Given the description of an element on the screen output the (x, y) to click on. 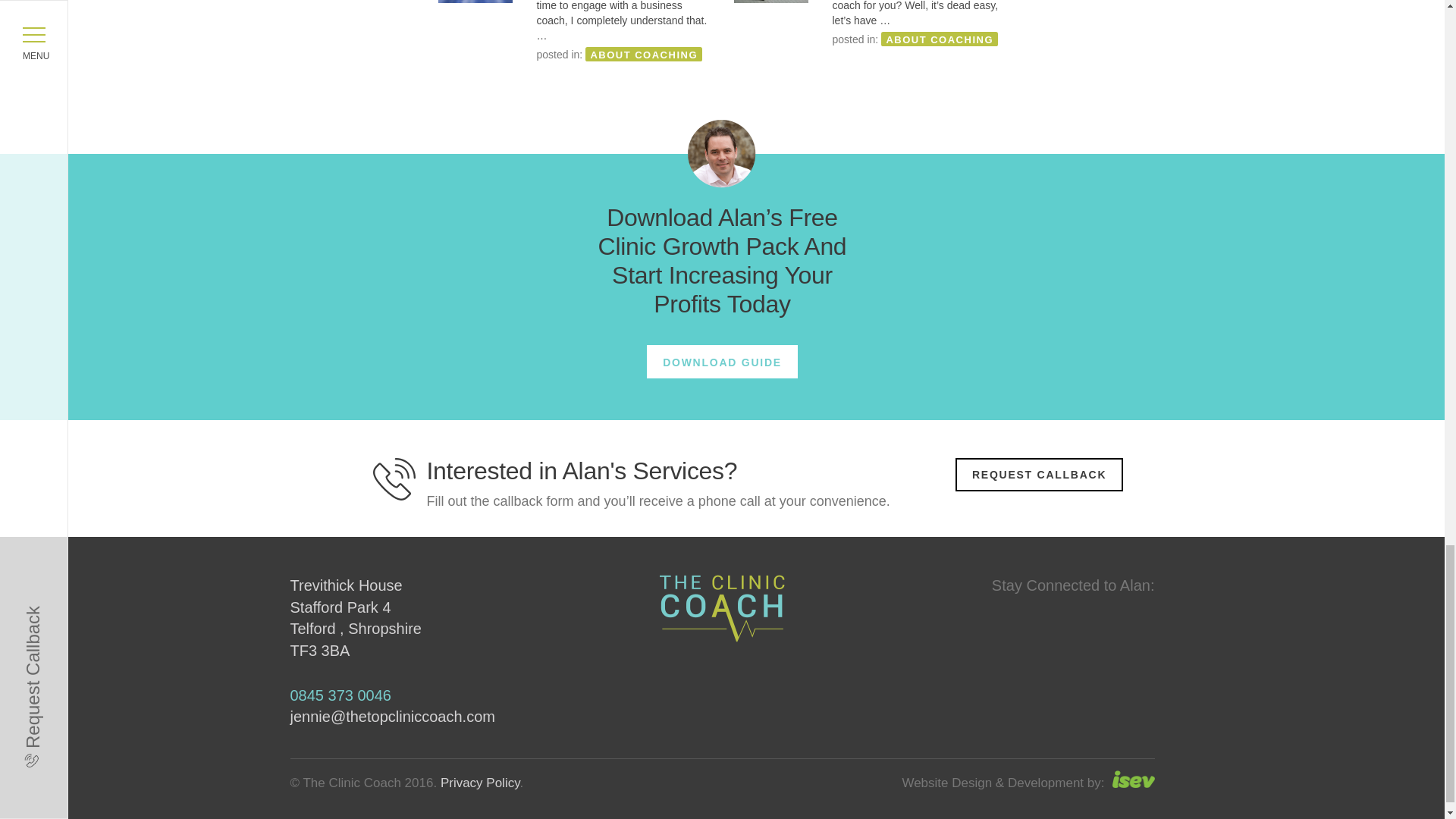
ABOUT COACHING (643, 54)
DOWNLOAD GUIDE (721, 361)
ABOUT COACHING (938, 39)
REQUEST CALLBACK (1038, 474)
